Given the description of an element on the screen output the (x, y) to click on. 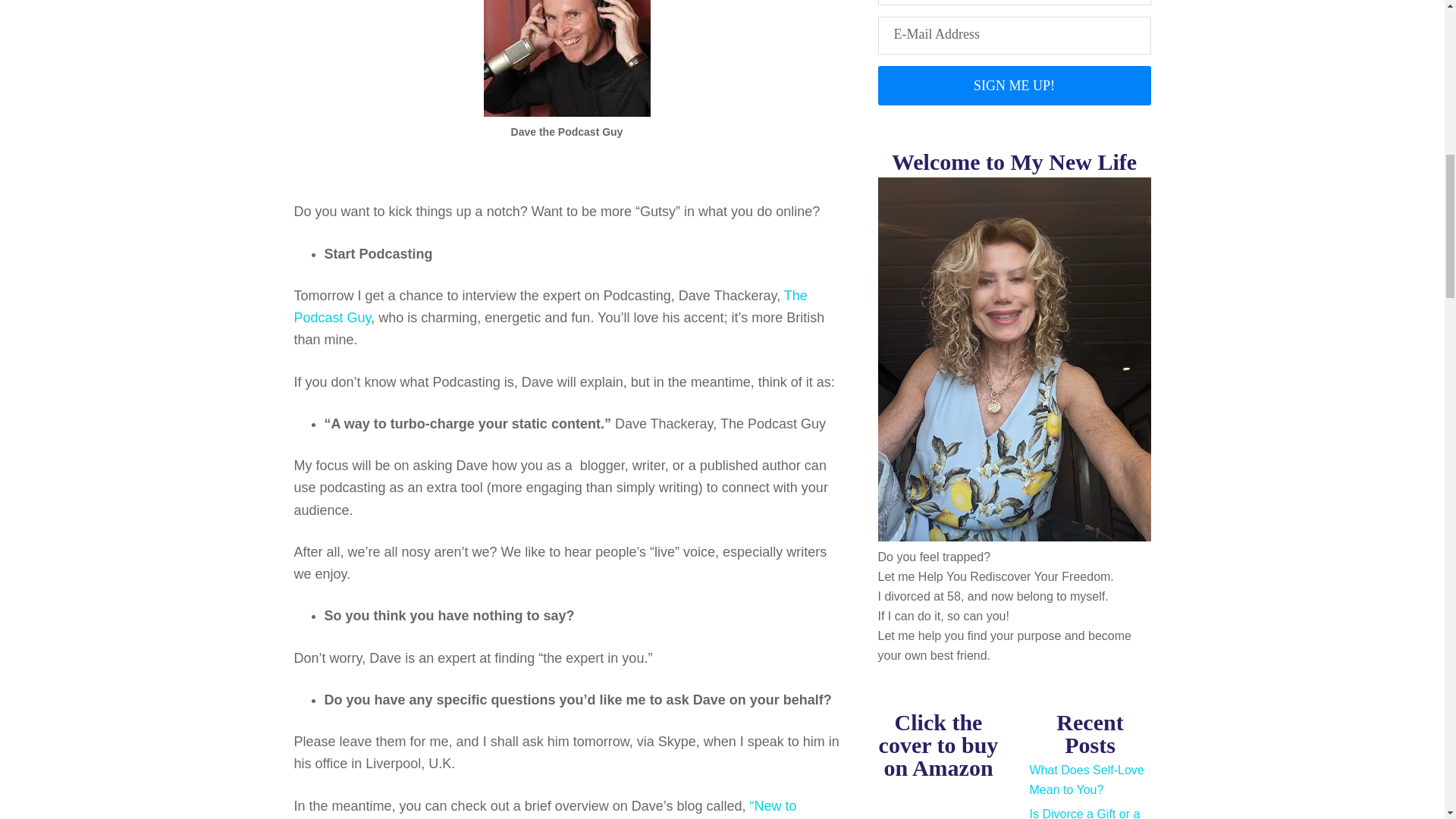
Dave the podcast guy (566, 58)
Sign Me Up! (1014, 85)
The Podcast Guy (551, 306)
